Given the description of an element on the screen output the (x, y) to click on. 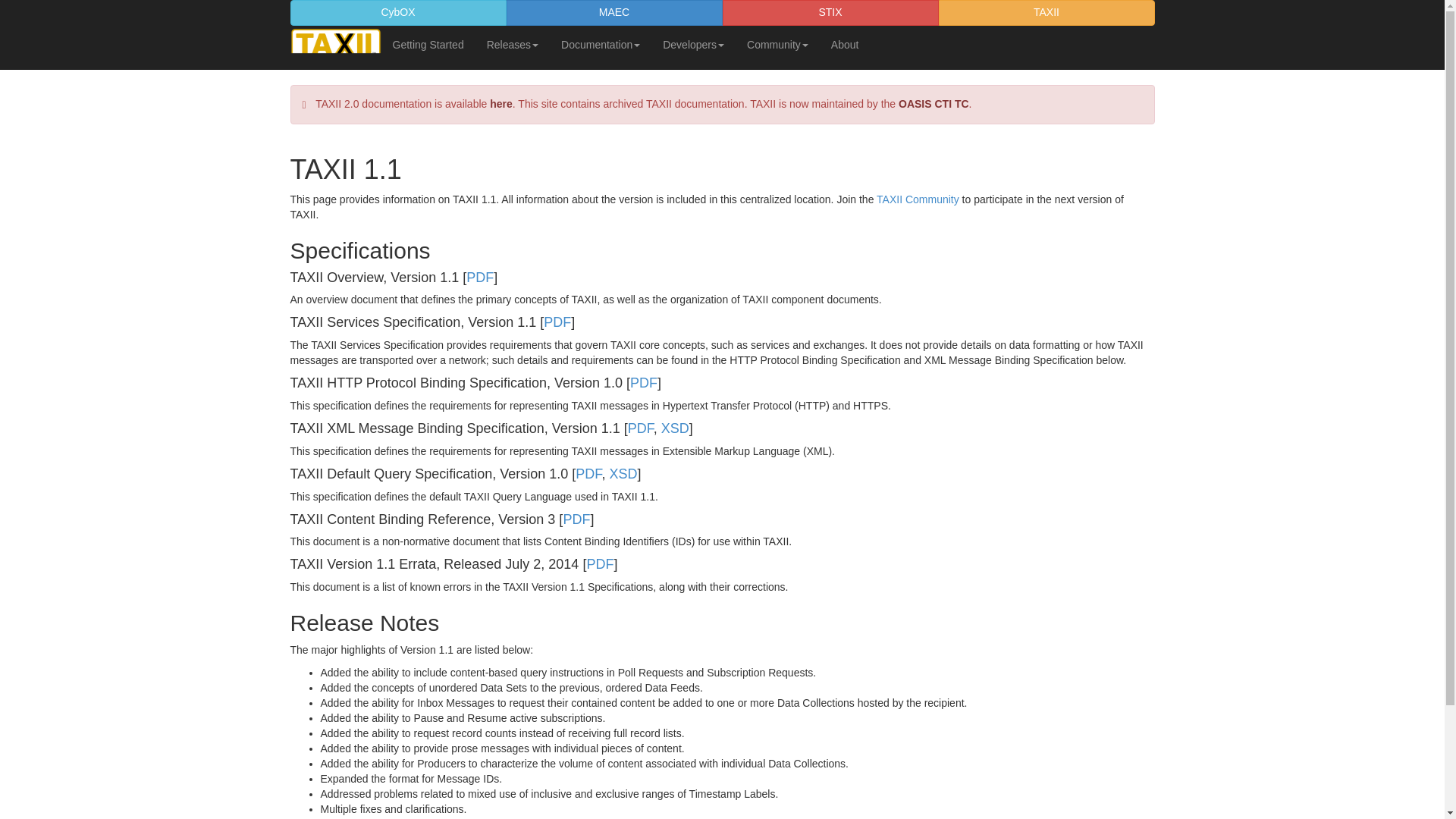
Community (777, 44)
PDF (588, 473)
PDF (479, 277)
here (500, 103)
OASIS CTI TC (933, 103)
TAXII (1046, 12)
PDF (644, 382)
PDF (640, 427)
PDF (556, 322)
CybOX (397, 12)
Developers (692, 44)
MAEC (614, 12)
STIX (829, 12)
TAXII Community (917, 199)
Getting Started (427, 44)
